Given the description of an element on the screen output the (x, y) to click on. 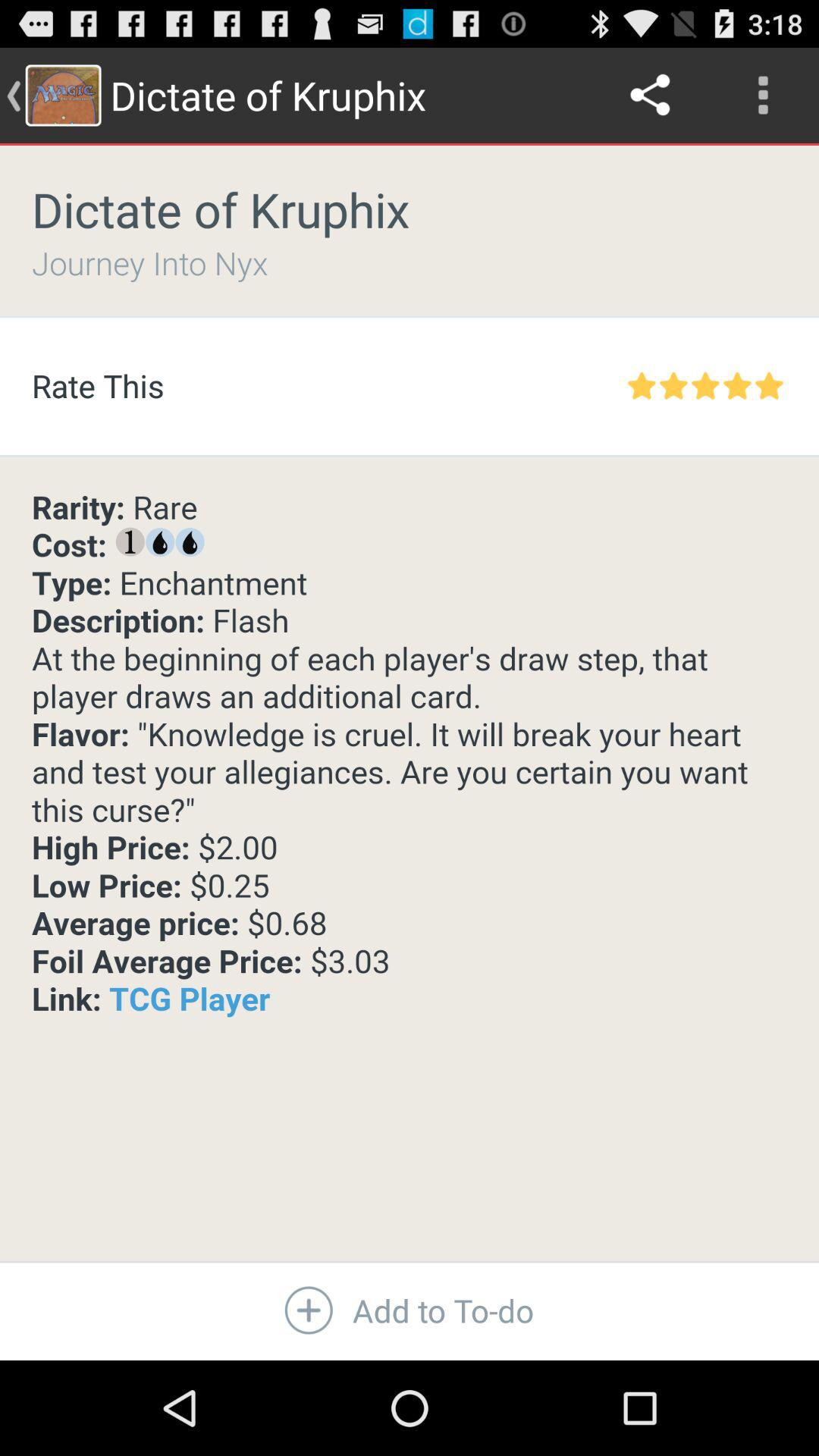
click icon to the right of the dictate of kruphix item (651, 95)
